Given the description of an element on the screen output the (x, y) to click on. 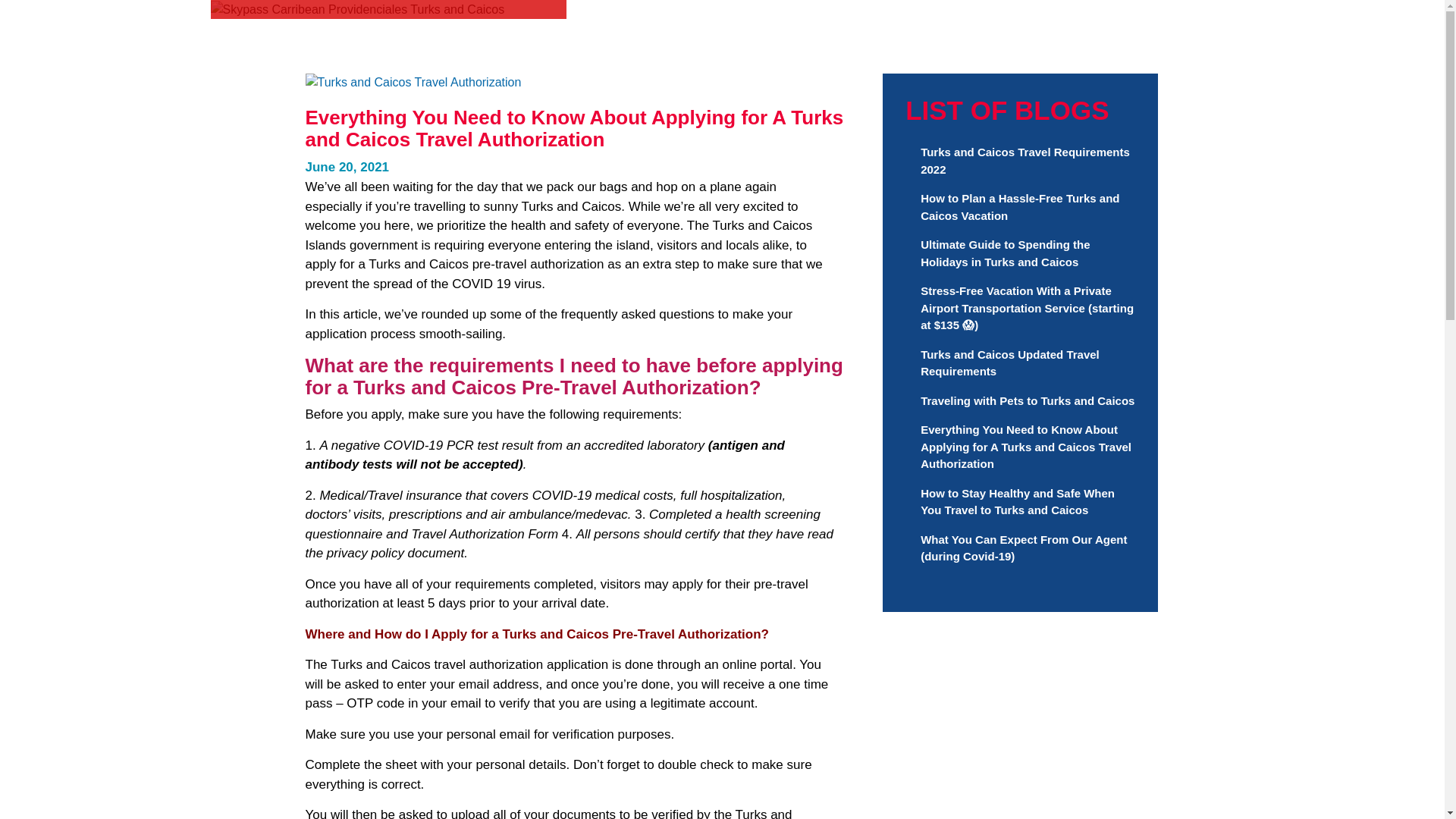
Turks and Caicos Updated Travel Requirements (1009, 363)
Traveling with Pets to Turks and Caicos (1027, 400)
Turks and Caicos Travel Requirements 2022 (1024, 160)
How to Plan a Hassle-Free Turks and Caicos Vacation (1019, 206)
Ultimate Guide to Spending the Holidays in Turks and Caicos (1004, 253)
